Given the description of an element on the screen output the (x, y) to click on. 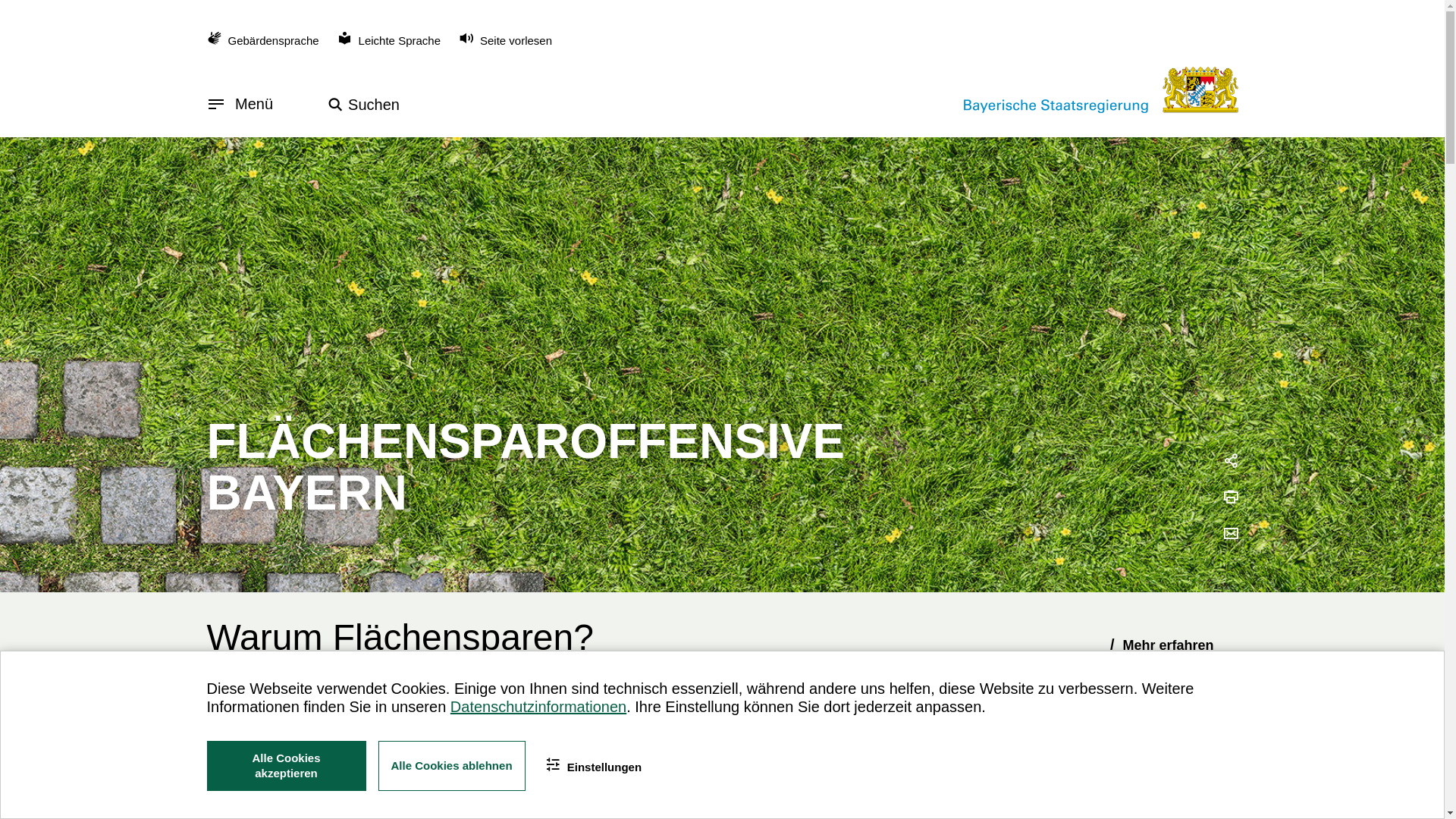
Einstellungen Element type: text (593, 765)
Alle Cookies ablehnen Element type: text (450, 765)
Leichte Sprache Element type: text (388, 41)
Seitenlink in die Zwischenablage kopieren Element type: hover (1229, 461)
Seite vorlesen Element type: text (505, 38)
Mehr erfahren Element type: text (1165, 644)
Seite drucken Element type: hover (1229, 498)
Seite per Email versenden Element type: hover (1229, 534)
Datenschutzinformationen Element type: text (538, 706)
Alle Cookies akzeptieren Element type: text (285, 765)
Suchen Element type: text (363, 104)
